Given the description of an element on the screen output the (x, y) to click on. 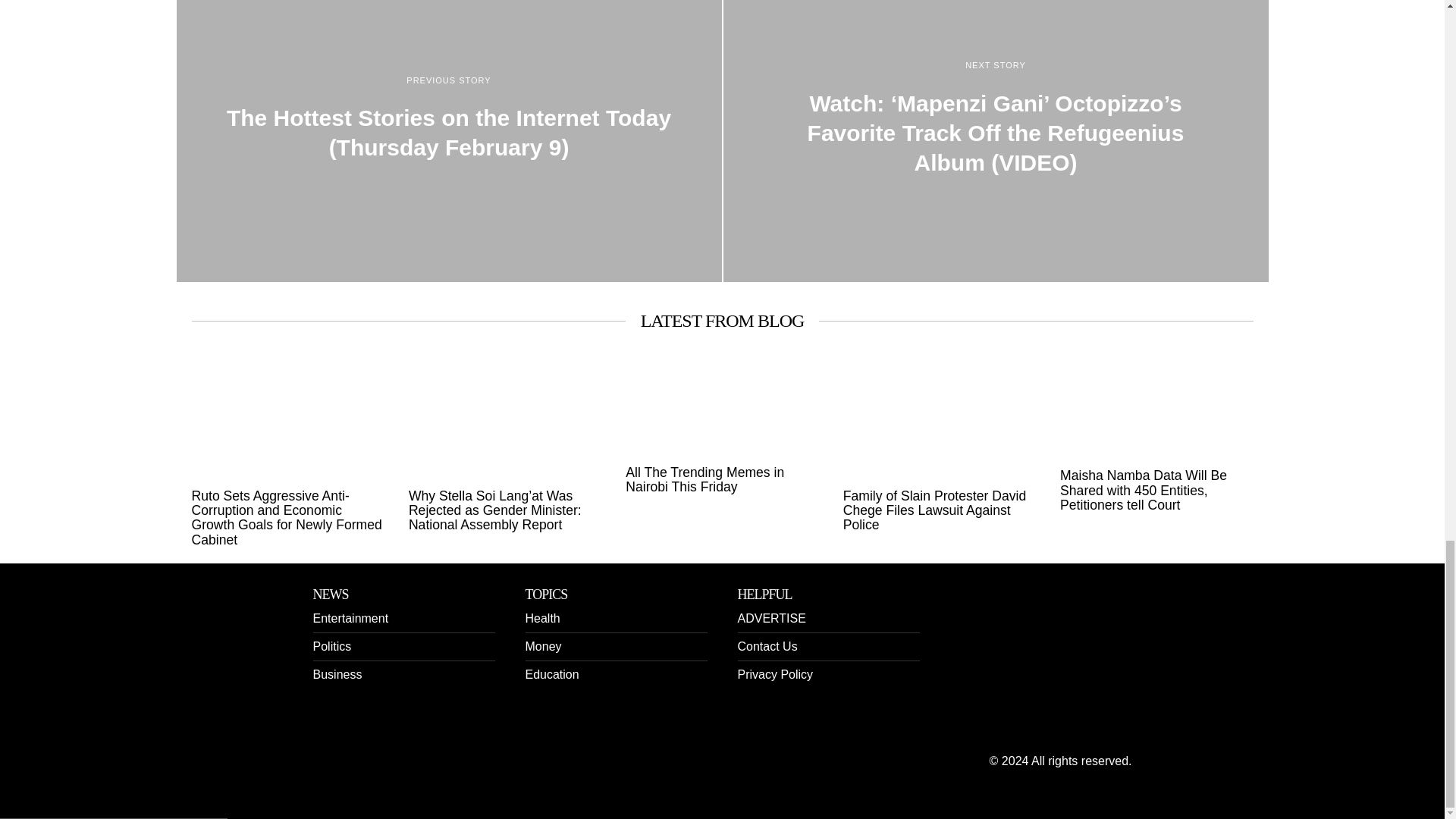
Business (337, 674)
Entertainment (350, 617)
All The Trending Memes in Nairobi This Friday (722, 480)
Health (541, 617)
Politics (331, 645)
Money (542, 645)
